Given the description of an element on the screen output the (x, y) to click on. 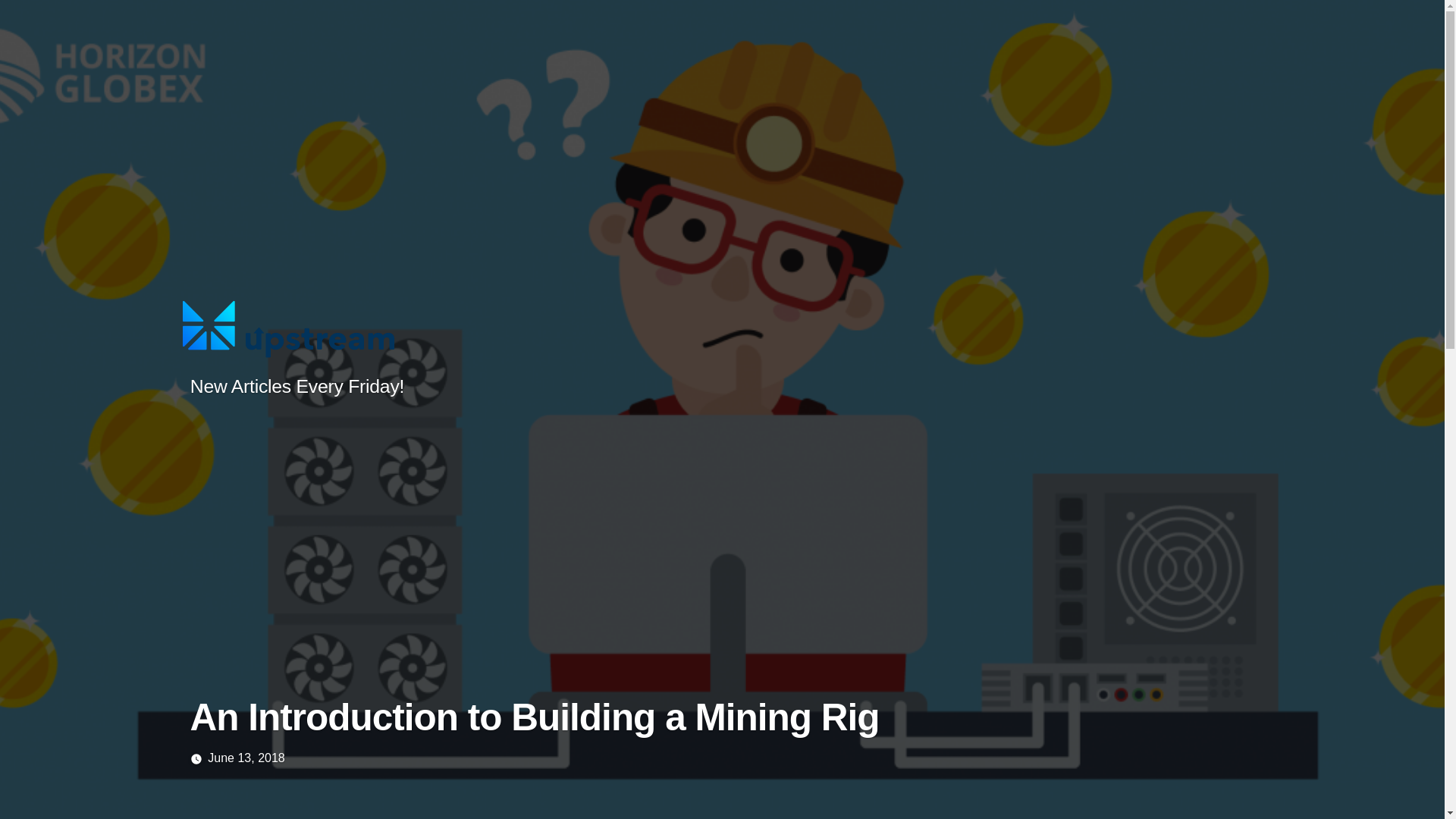
June 13, 2018 (245, 757)
